Given the description of an element on the screen output the (x, y) to click on. 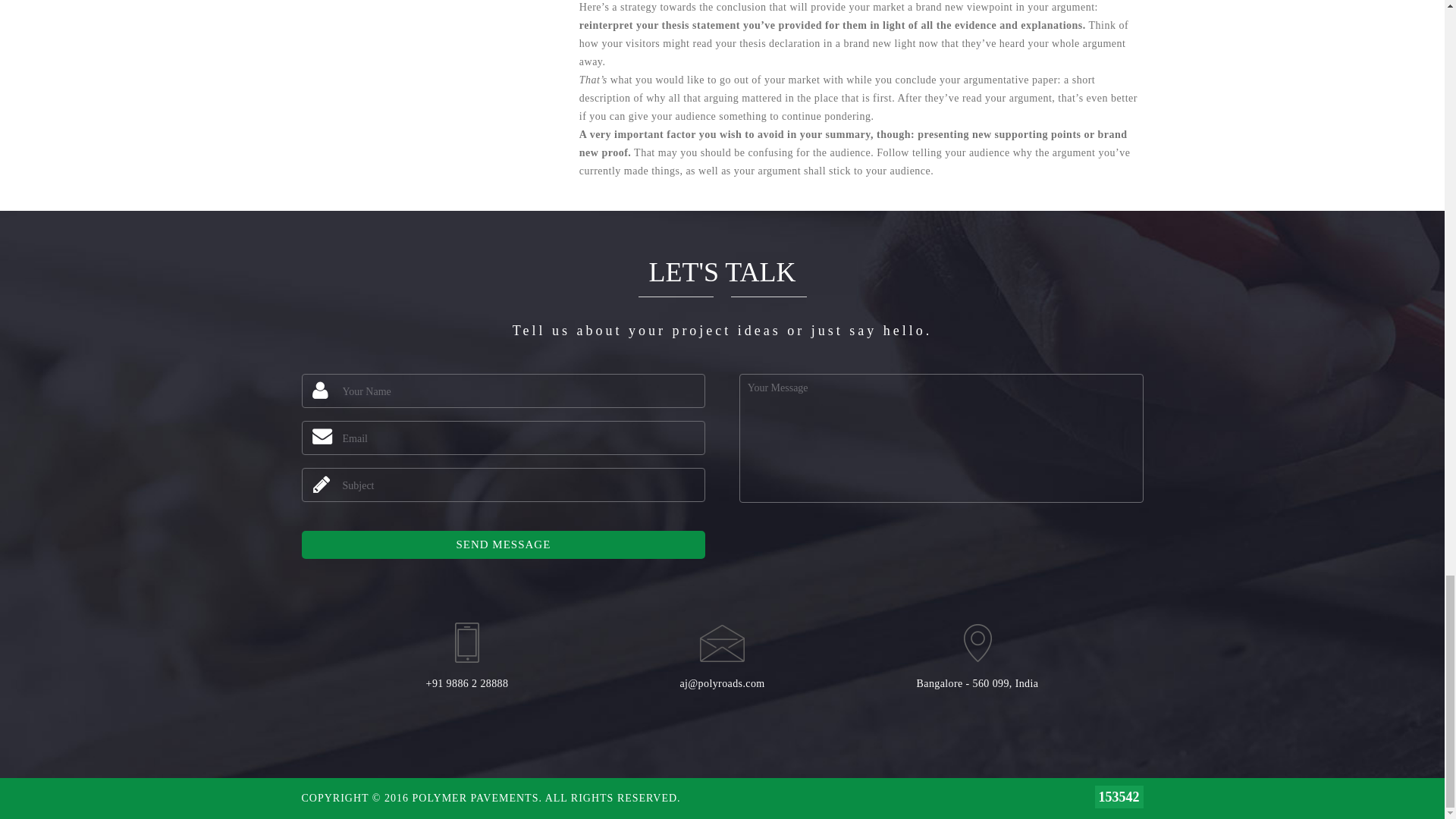
Send Message (503, 544)
Send Message (503, 544)
